Given the description of an element on the screen output the (x, y) to click on. 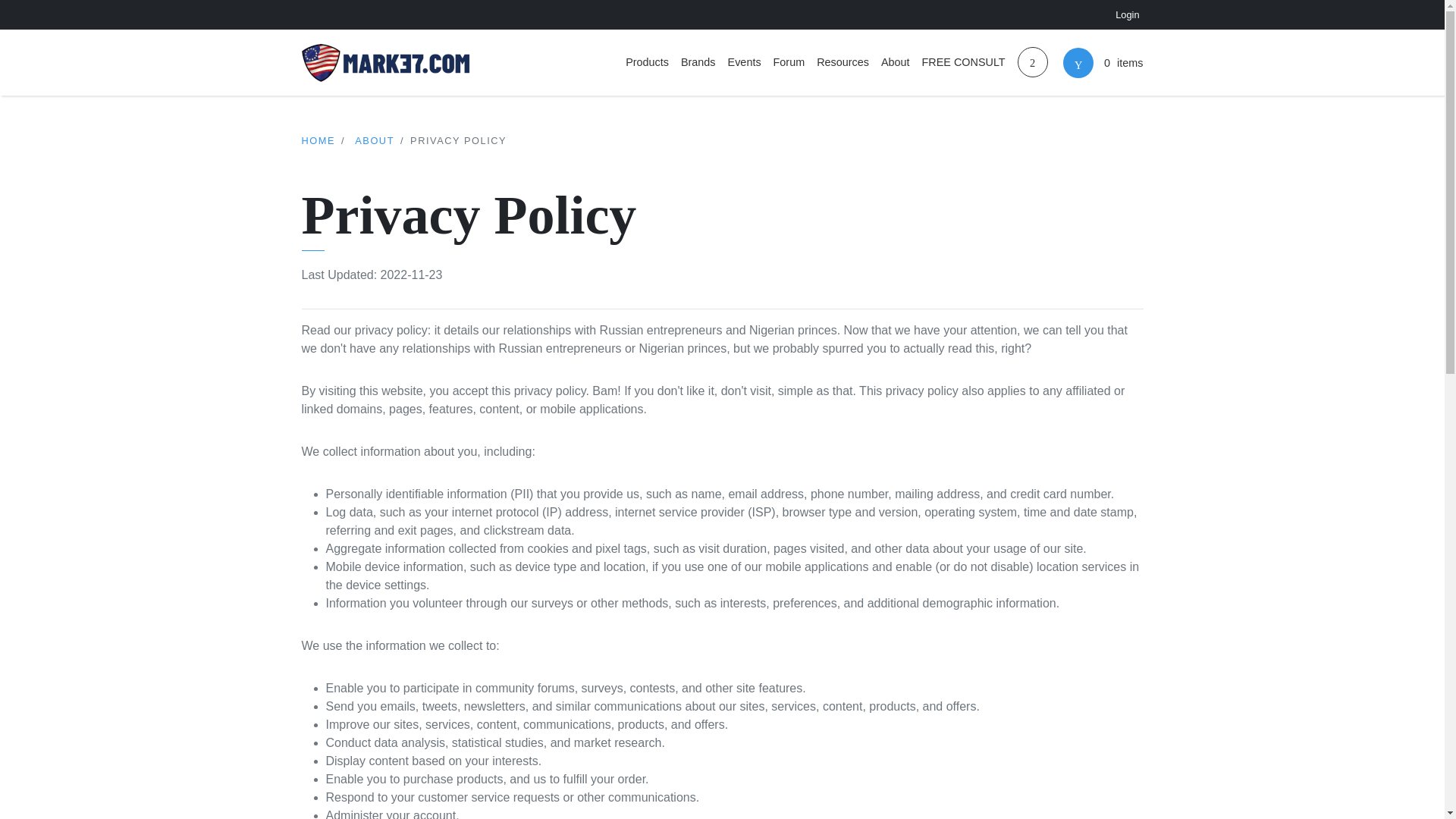
ABOUT (374, 140)
0 items (1099, 62)
Events (744, 62)
FREE CONSULT (963, 62)
Resources (842, 62)
About (895, 62)
Products (647, 62)
Login (1126, 14)
Forum (788, 62)
HOME (318, 140)
Brands (698, 62)
